Given the description of an element on the screen output the (x, y) to click on. 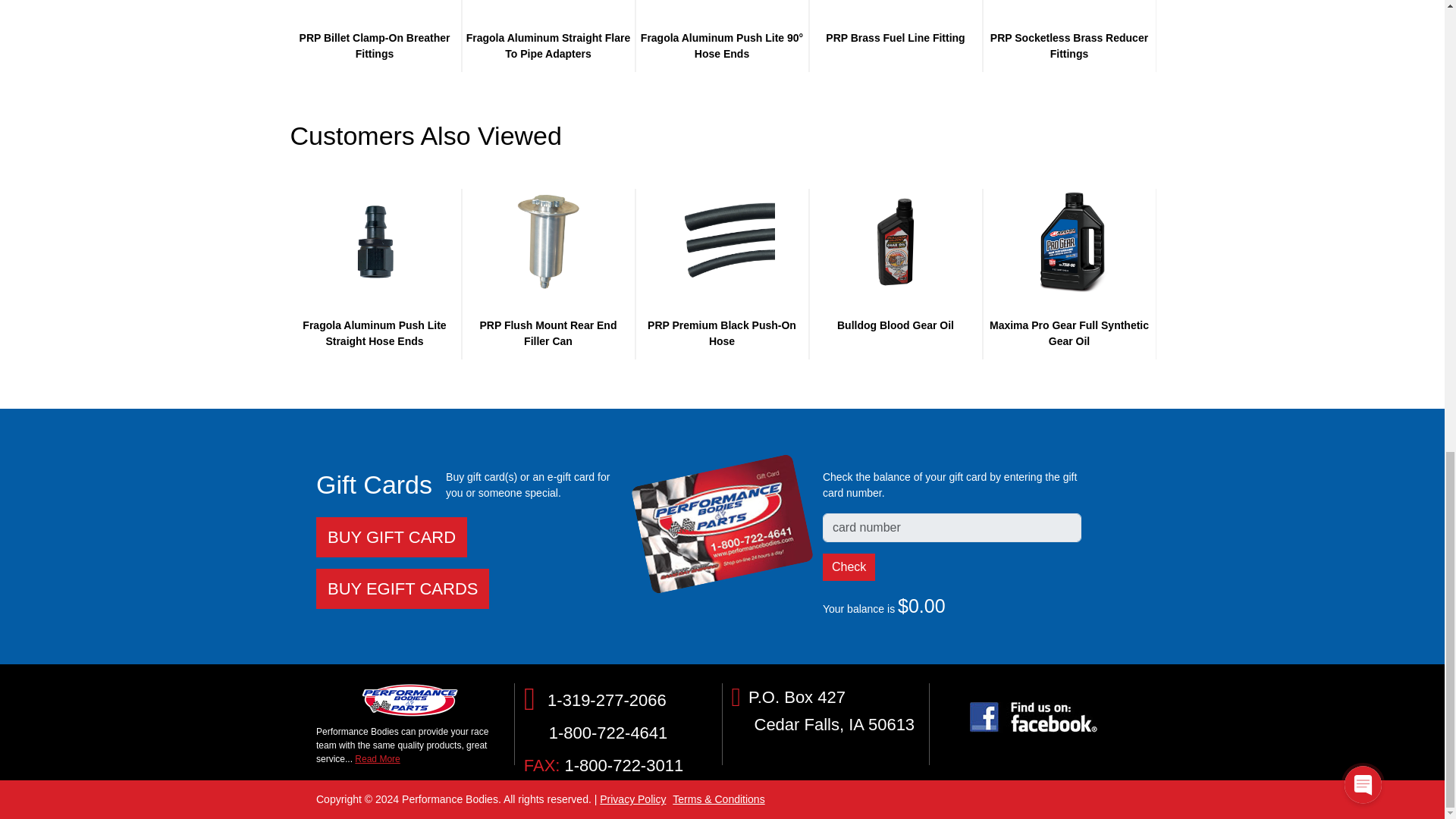
Show details for PRP Socketless Brass Reducer Fittings (1069, 3)
Show details for PRP Flush Mount Rear End Filler Can (547, 241)
Show details for PRP Billet Clamp-On Breather Fittings (374, 3)
Show details for PRP Brass Fuel Line Fitting (896, 3)
Show details for PRP Socketless Brass Reducer Fittings (1069, 3)
Show details for PRP Brass Fuel Line Fitting (894, 3)
Show details for PRP Billet Clamp-On Breather Fittings (374, 3)
